Given the description of an element on the screen output the (x, y) to click on. 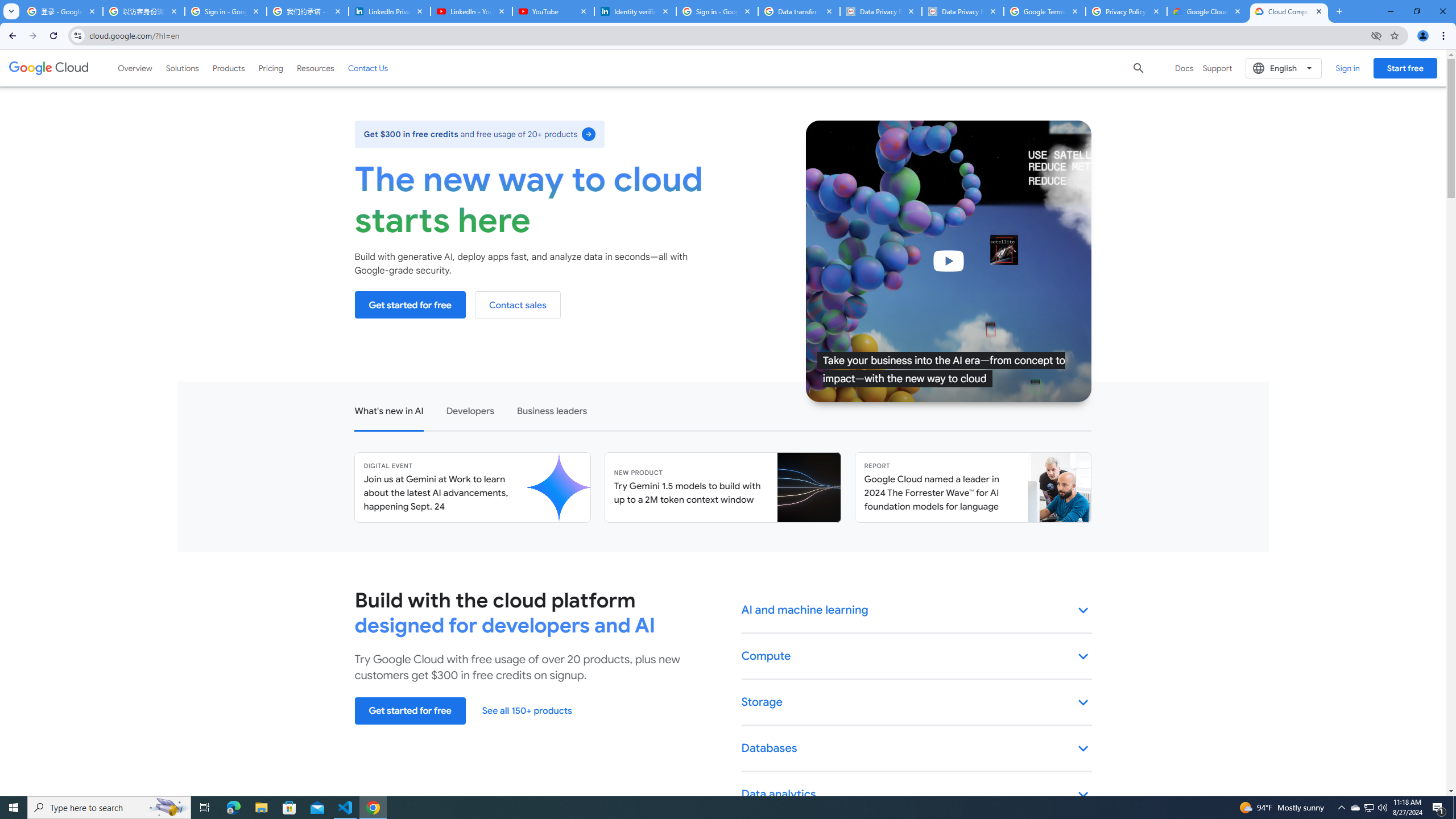
Sign in - Google Accounts (716, 11)
Get $300 in free credits and free usage of 20+ products (479, 134)
YouTube (552, 11)
See all 150+ products (526, 710)
LinkedIn - YouTube (470, 11)
Contact Us (368, 67)
Data Privacy Framework (880, 11)
